Given the description of an element on the screen output the (x, y) to click on. 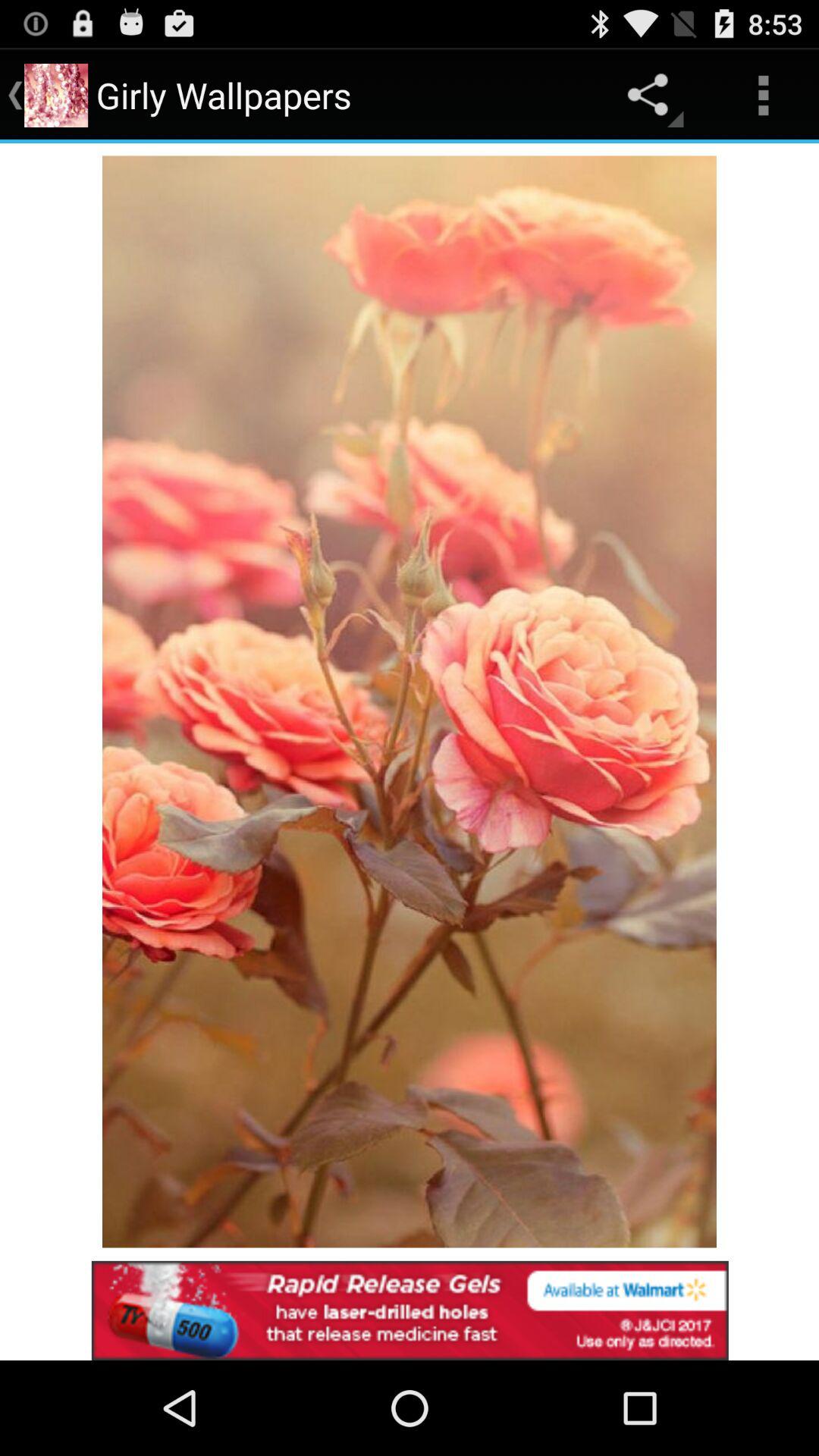
redirects you to offer page (409, 1310)
